Given the description of an element on the screen output the (x, y) to click on. 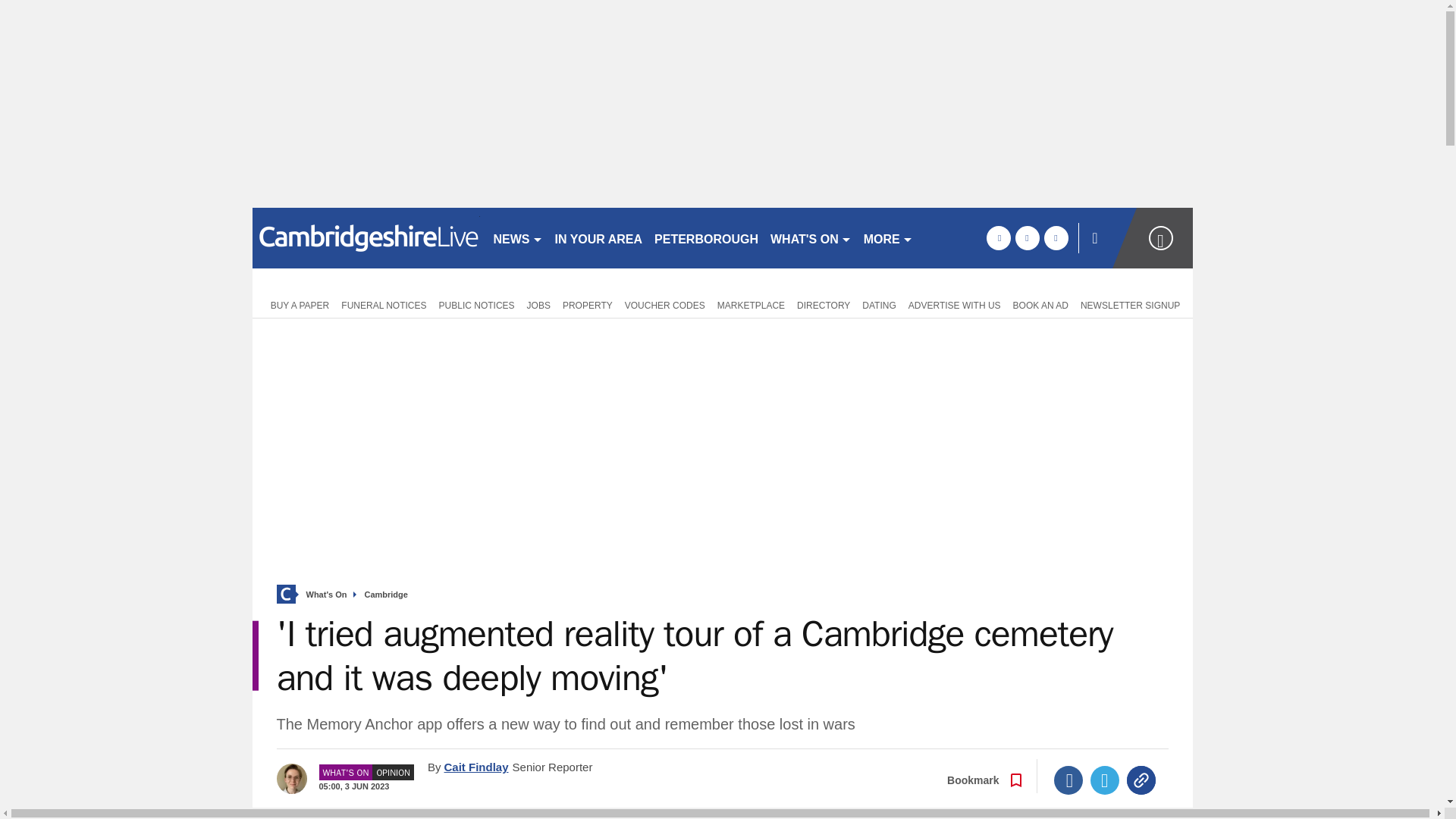
Facebook (1068, 779)
PETERBOROUGH (705, 238)
facebook (997, 238)
twitter (1026, 238)
IN YOUR AREA (598, 238)
MORE (887, 238)
Twitter (1104, 779)
NEWS (517, 238)
cambridgenews (365, 238)
WHAT'S ON (810, 238)
